Given the description of an element on the screen output the (x, y) to click on. 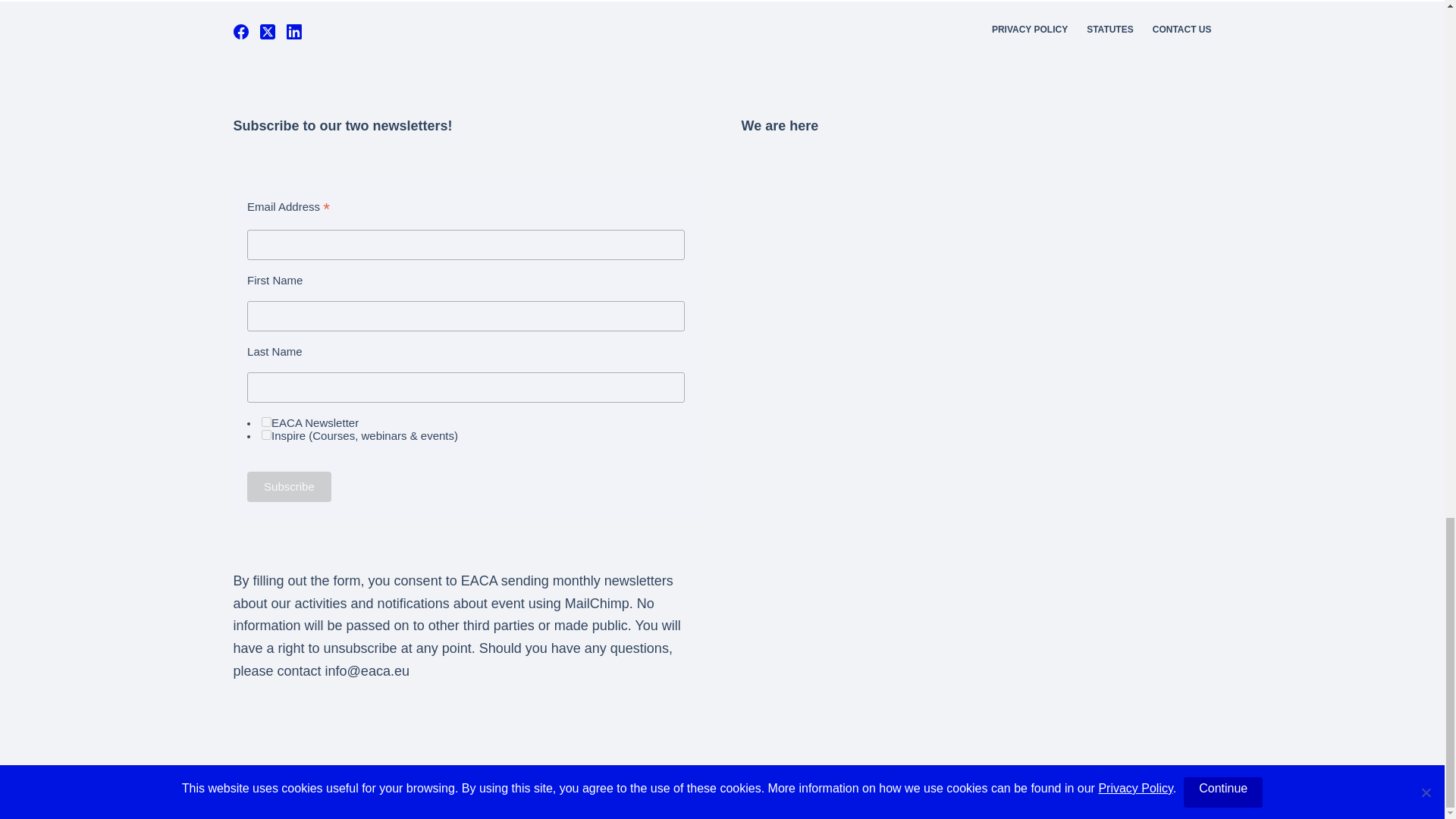
4 (266, 421)
16 (266, 434)
Subscribe (289, 486)
